Given the description of an element on the screen output the (x, y) to click on. 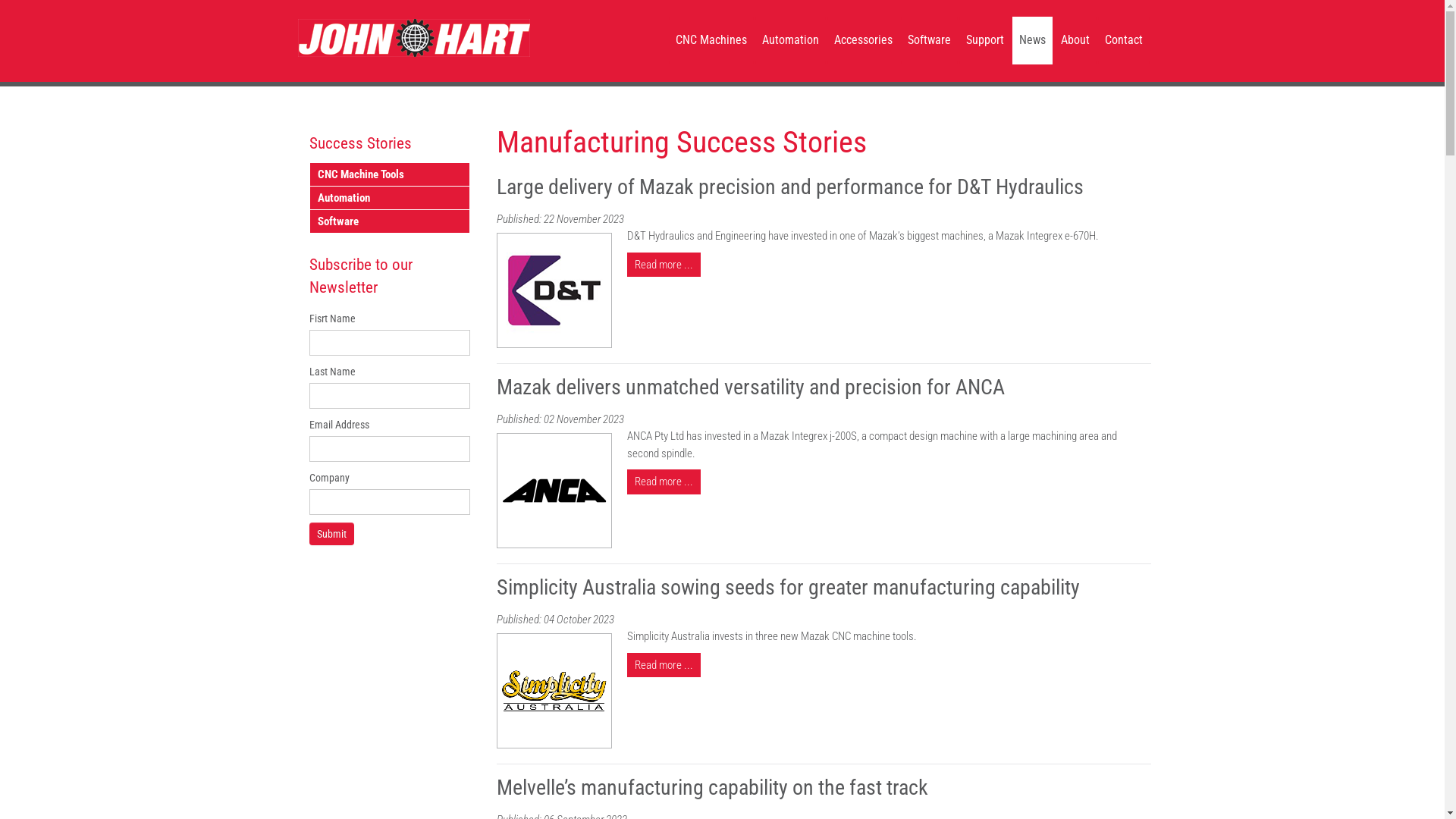
Support Element type: text (984, 40)
Home Element type: hover (413, 37)
Software Element type: text (928, 40)
Software Element type: text (388, 221)
Automation Element type: text (790, 40)
Automation Element type: text (388, 197)
Mazak delivers unmatched versatility and precision for ANCA Element type: text (750, 386)
News Element type: text (1031, 40)
Read more ... Element type: text (663, 264)
Accessories Element type: text (862, 40)
Submit Element type: text (331, 533)
CNC Machines Element type: text (710, 40)
Read more ... Element type: text (663, 481)
CNC Machine Tools Element type: text (388, 174)
About Element type: text (1075, 40)
Contact Element type: text (1123, 40)
Read more ... Element type: text (663, 664)
